Given the description of an element on the screen output the (x, y) to click on. 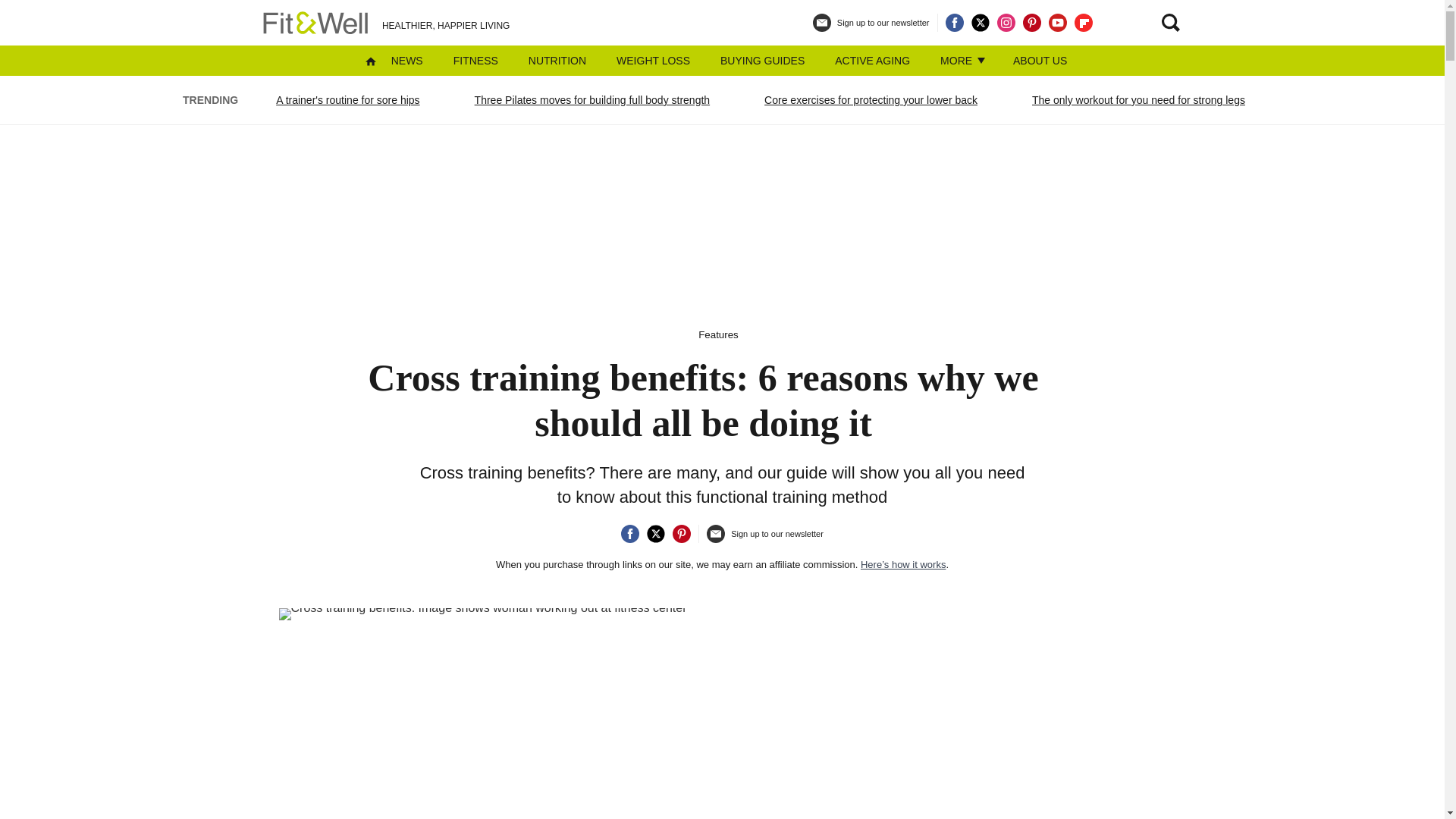
The only workout for you need for strong legs (1138, 99)
Sign up to our newsletter (871, 28)
FITNESS (474, 60)
Three Pilates moves for building full body strength (592, 99)
Features (718, 334)
A trainer's routine for sore hips (347, 99)
BUYING GUIDES (762, 60)
ABOUT US (1040, 60)
WEIGHT LOSS (652, 60)
NEWS (407, 60)
Sign up to our newsletter (765, 539)
ACTIVE AGING (872, 60)
HEALTHIER, HAPPIER LIVING (384, 22)
NUTRITION (557, 60)
Core exercises for protecting your lower back (870, 99)
